Given the description of an element on the screen output the (x, y) to click on. 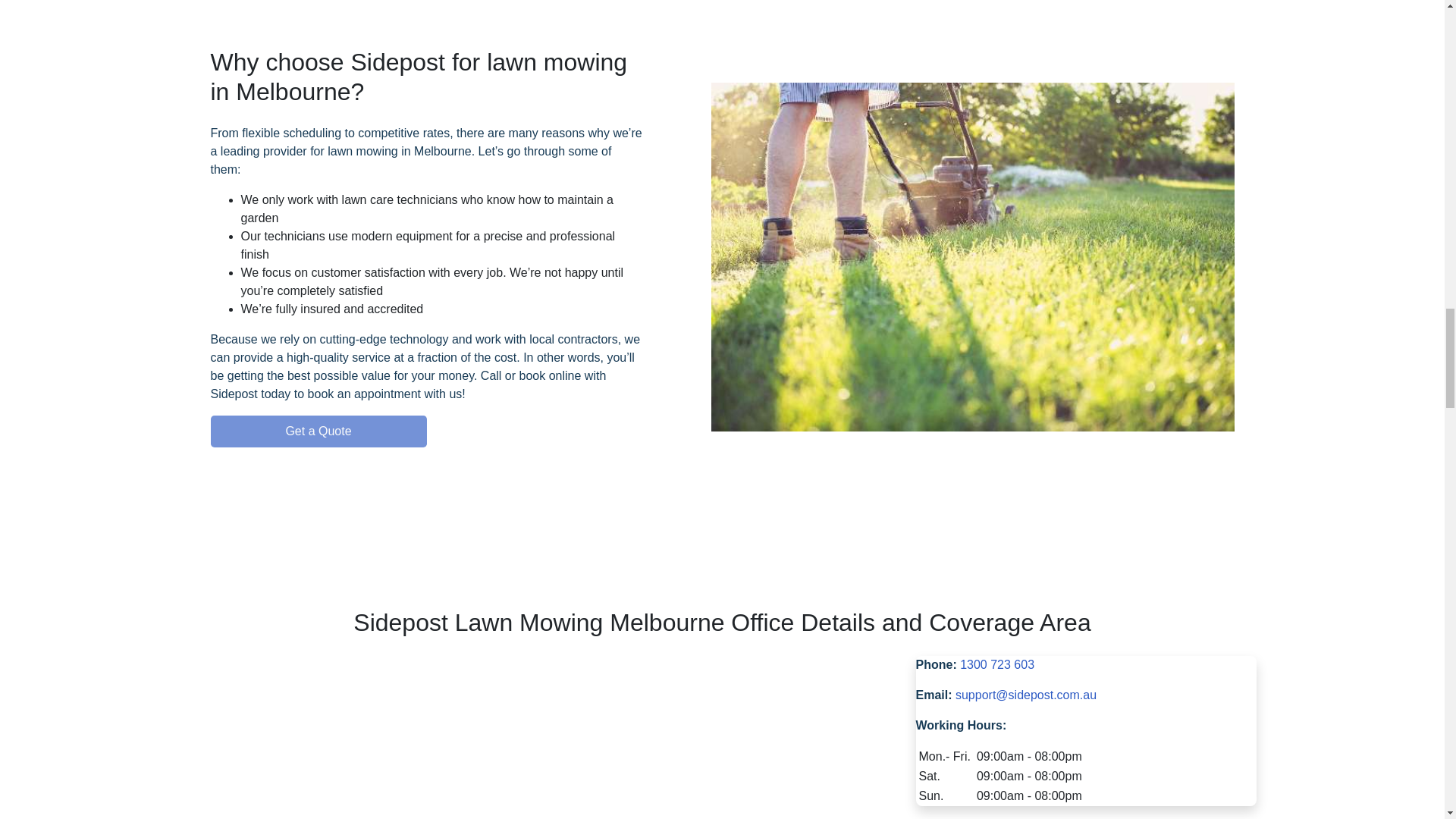
Get a Quote (318, 431)
1300 723 603 (996, 664)
Get a Quote (427, 431)
